Given the description of an element on the screen output the (x, y) to click on. 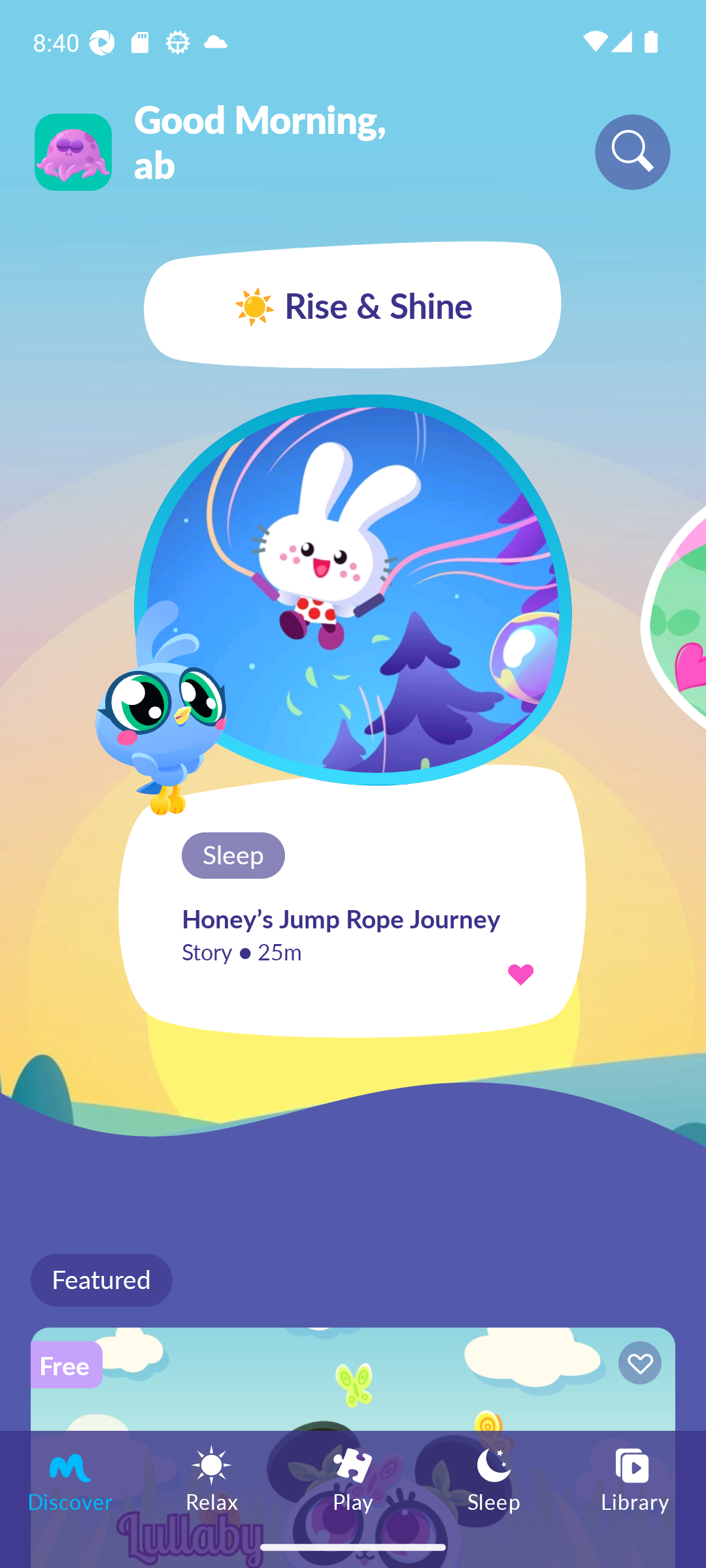
Search (632, 151)
test (352, 589)
Button (636, 1365)
Relax (211, 1478)
Play (352, 1478)
Sleep (493, 1478)
Library (635, 1478)
